Given the description of an element on the screen output the (x, y) to click on. 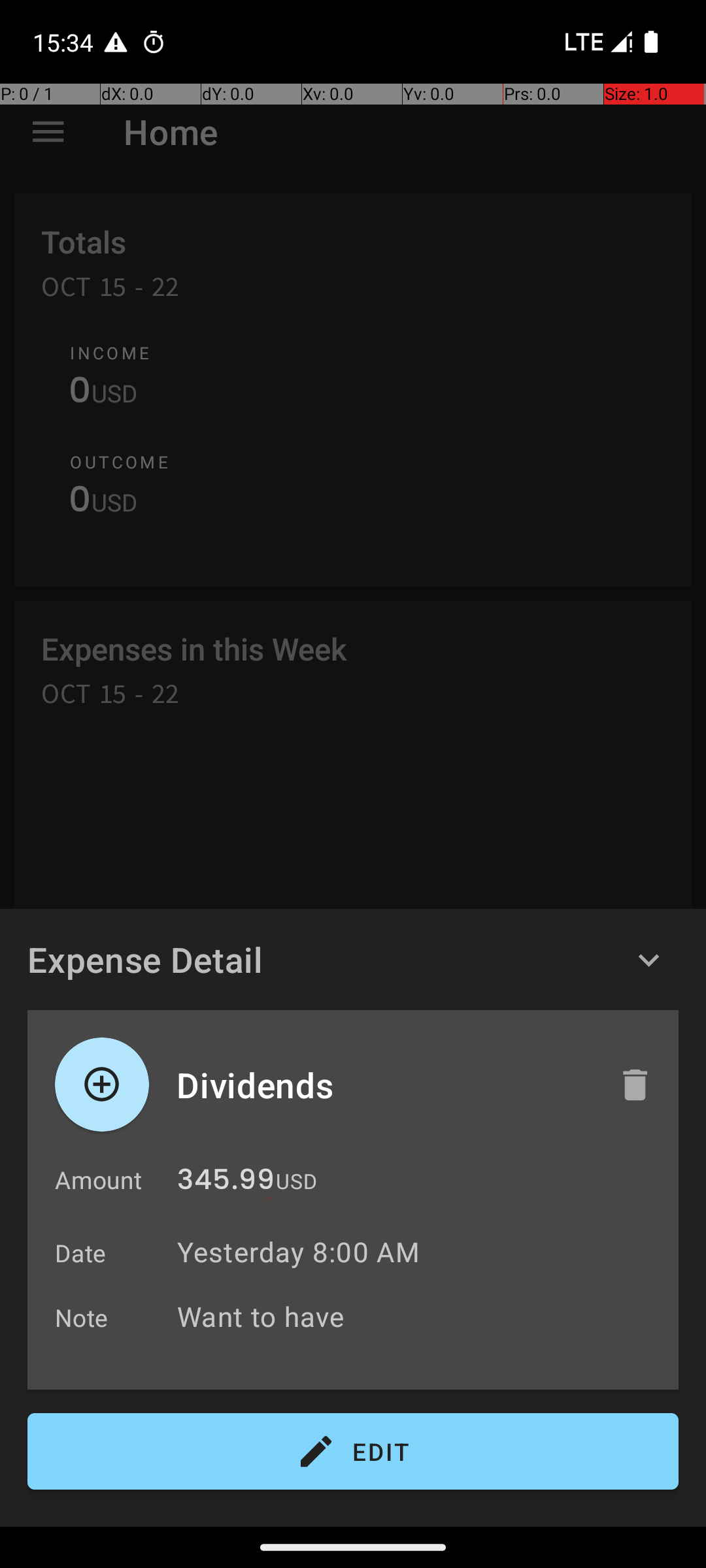
Dividends Element type: android.widget.TextView (383, 1084)
345.99 Element type: android.widget.TextView (225, 1182)
Yesterday 8:00 AM Element type: android.widget.TextView (298, 1251)
Want to have Element type: android.widget.TextView (420, 1315)
